Given the description of an element on the screen output the (x, y) to click on. 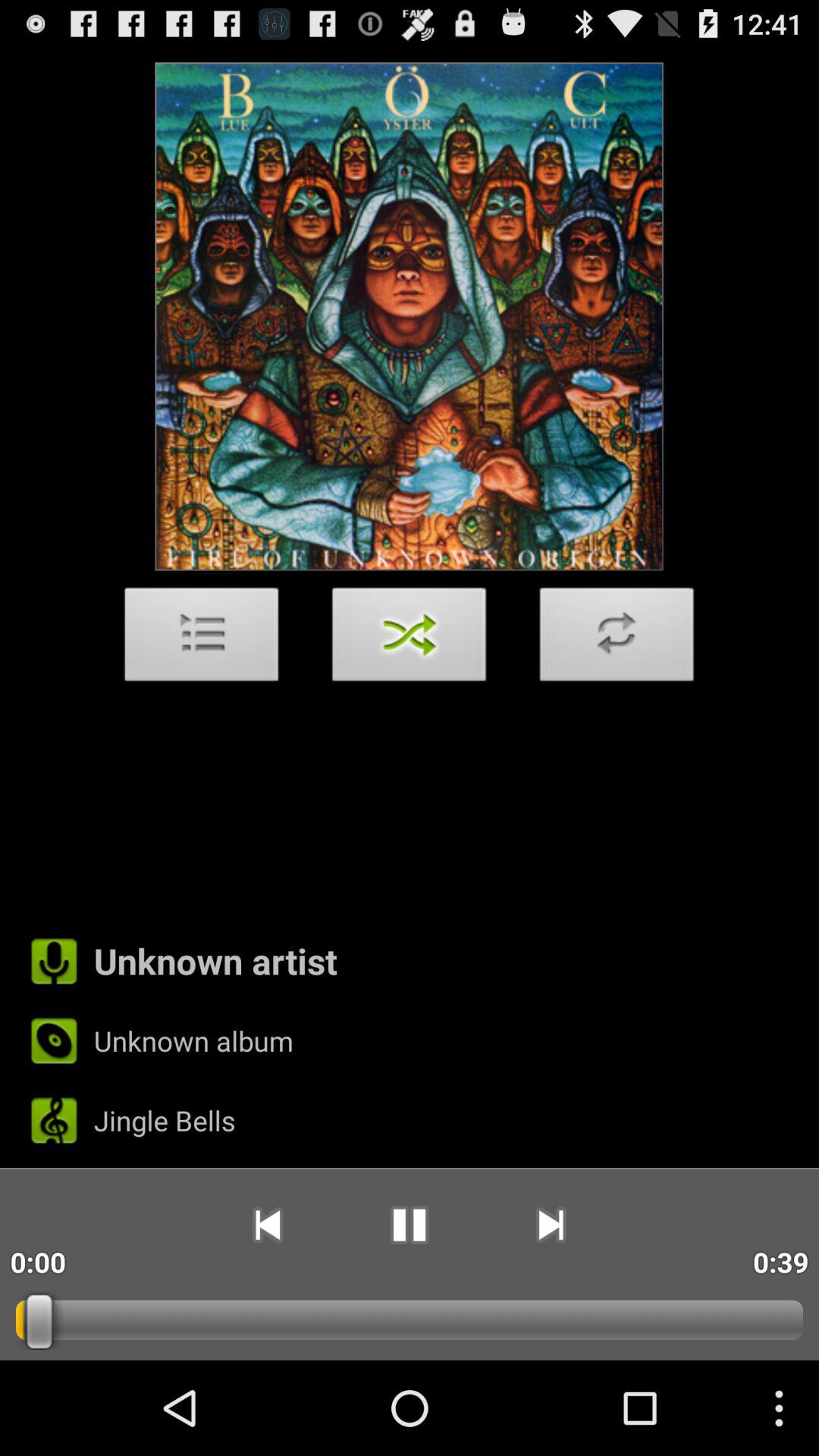
tap item to the left of the 0:39 icon (550, 1224)
